Given the description of an element on the screen output the (x, y) to click on. 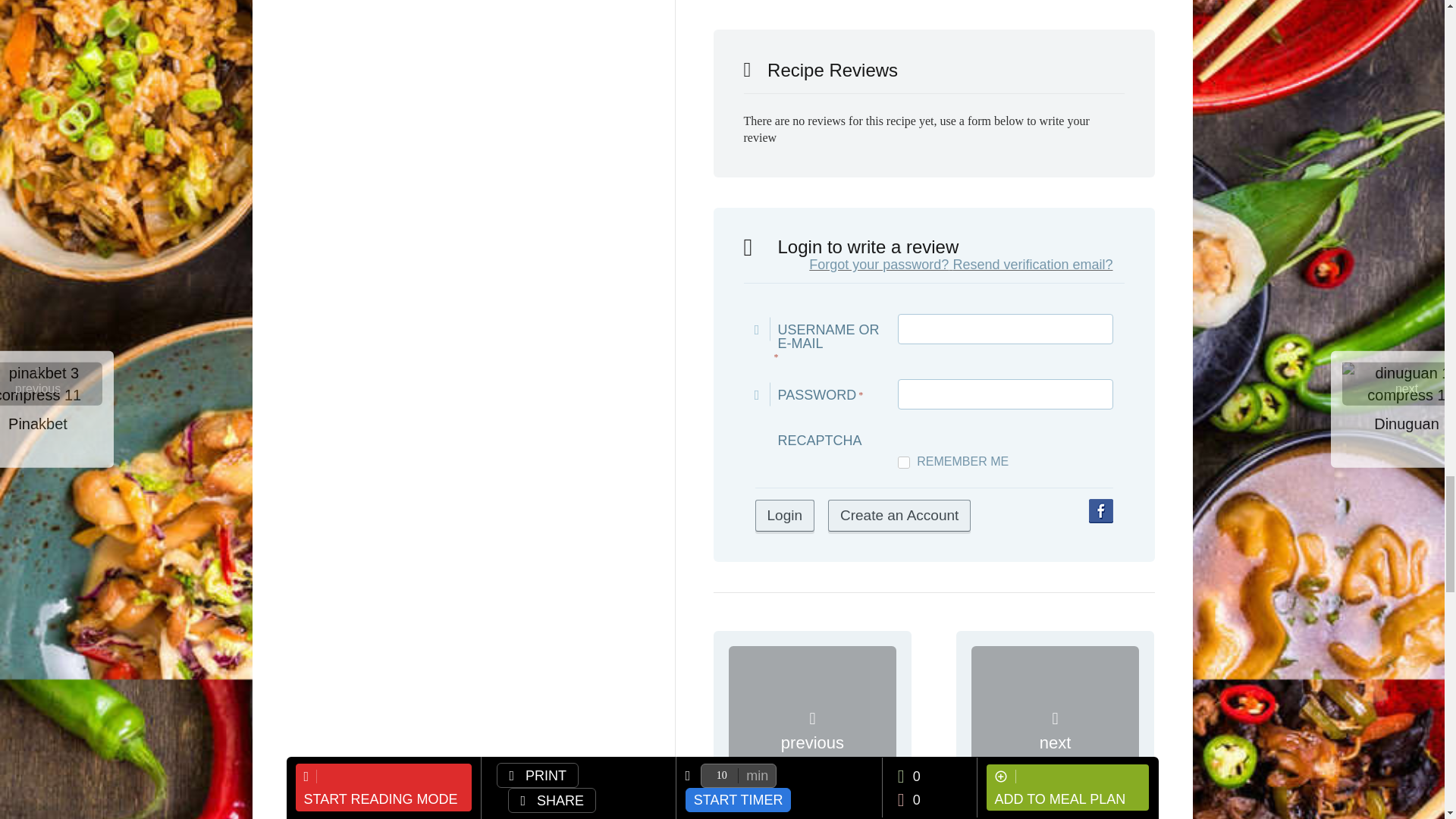
Create an Account (899, 515)
dinuguan 1 compress 1 Dinuguan (1055, 730)
pinakbet 3 compress 11 Pinakbet (812, 730)
Login (785, 515)
Login with Facebook (1101, 510)
